Given the description of an element on the screen output the (x, y) to click on. 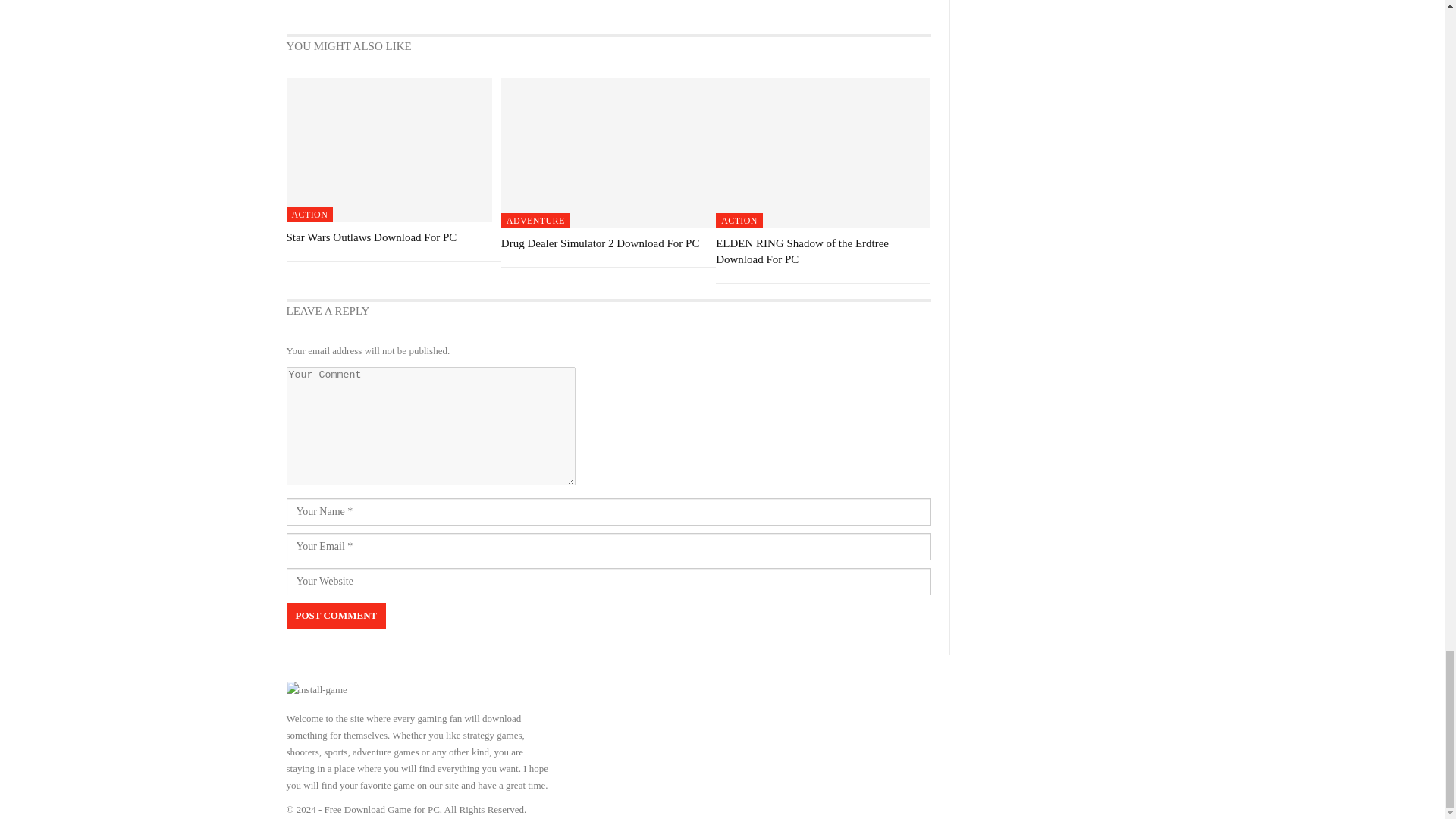
Drug Dealer Simulator 2 Download For PC (600, 243)
Star Wars Outlaws Download For PC (371, 236)
Post Comment (336, 615)
Star Wars Outlaws Download For PC (389, 149)
Drug Dealer Simulator 2 Download For PC (608, 152)
